Given the description of an element on the screen output the (x, y) to click on. 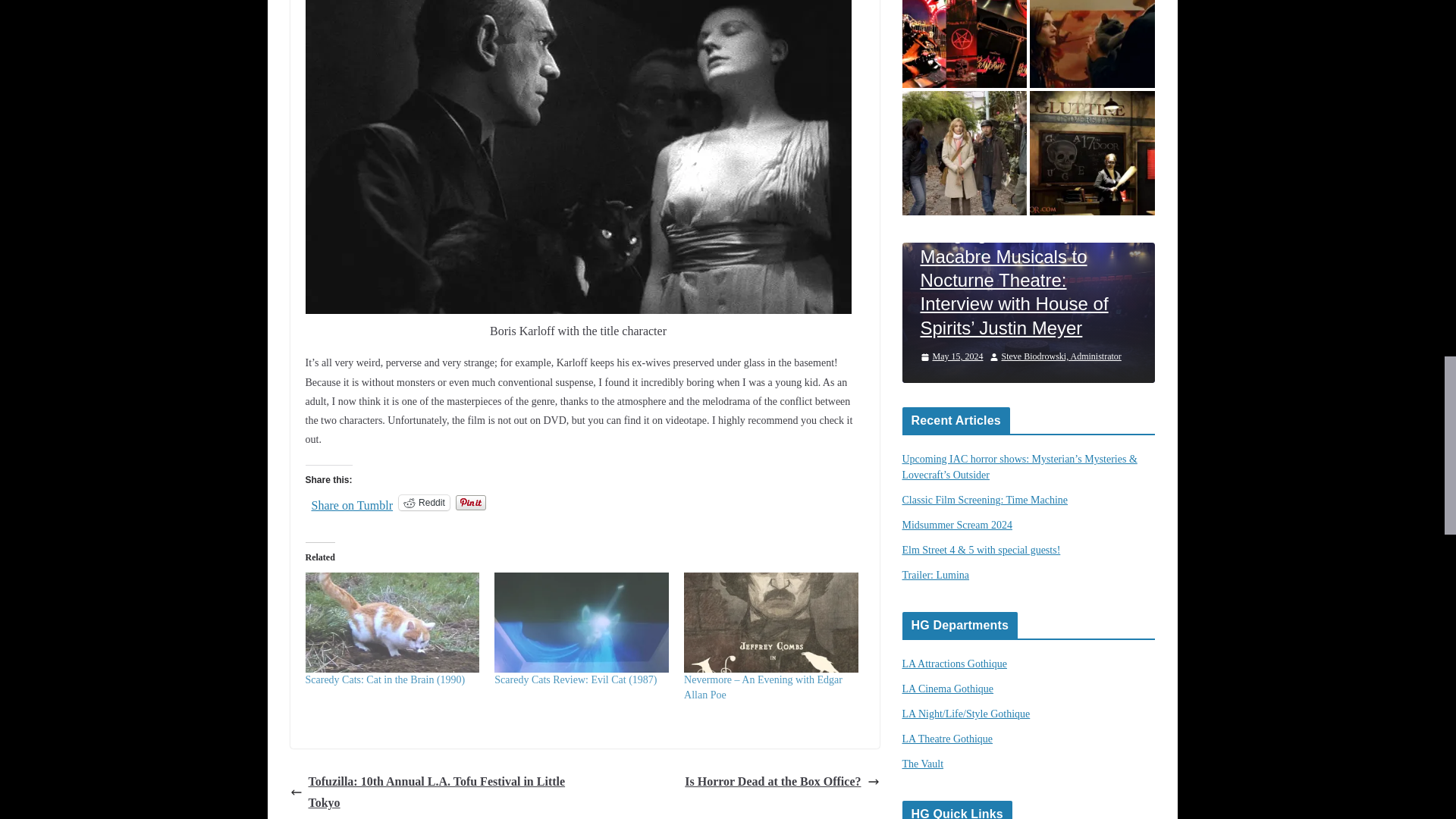
Click to share on Reddit (423, 502)
Share on Tumblr (352, 501)
